Given the description of an element on the screen output the (x, y) to click on. 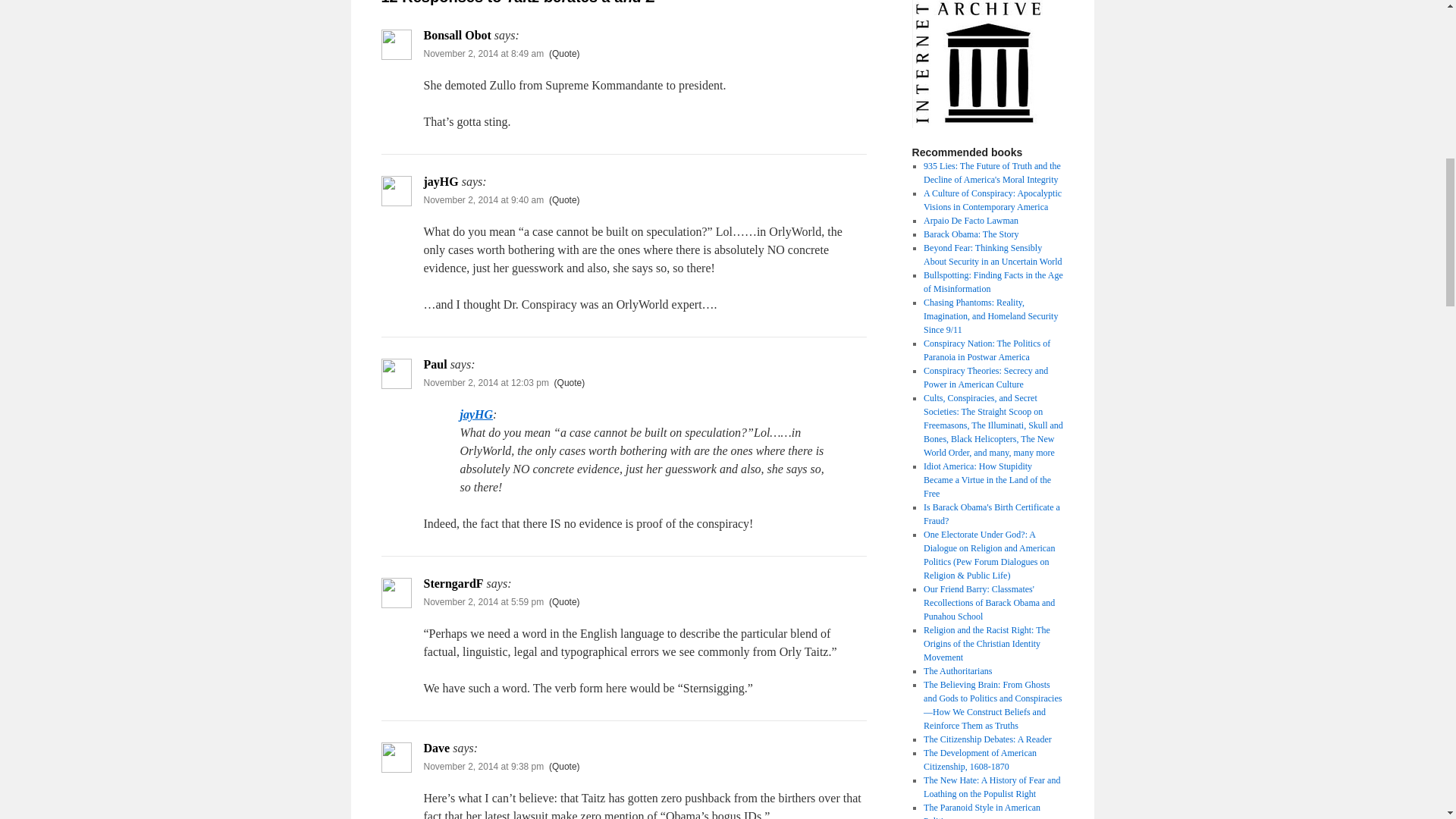
Click here or select text to quote comment (563, 602)
Click here or select text to quote comment (569, 382)
November 2, 2014 at 8:49 am (483, 53)
November 2, 2014 at 12:03 pm (485, 382)
November 2, 2014 at 9:38 pm (483, 766)
jayHG (476, 413)
Click here or select text to quote comment (563, 53)
November 2, 2014 at 9:40 am (483, 199)
Click here or select text to quote comment (563, 766)
November 2, 2014 at 5:59 pm (483, 602)
